Given the description of an element on the screen output the (x, y) to click on. 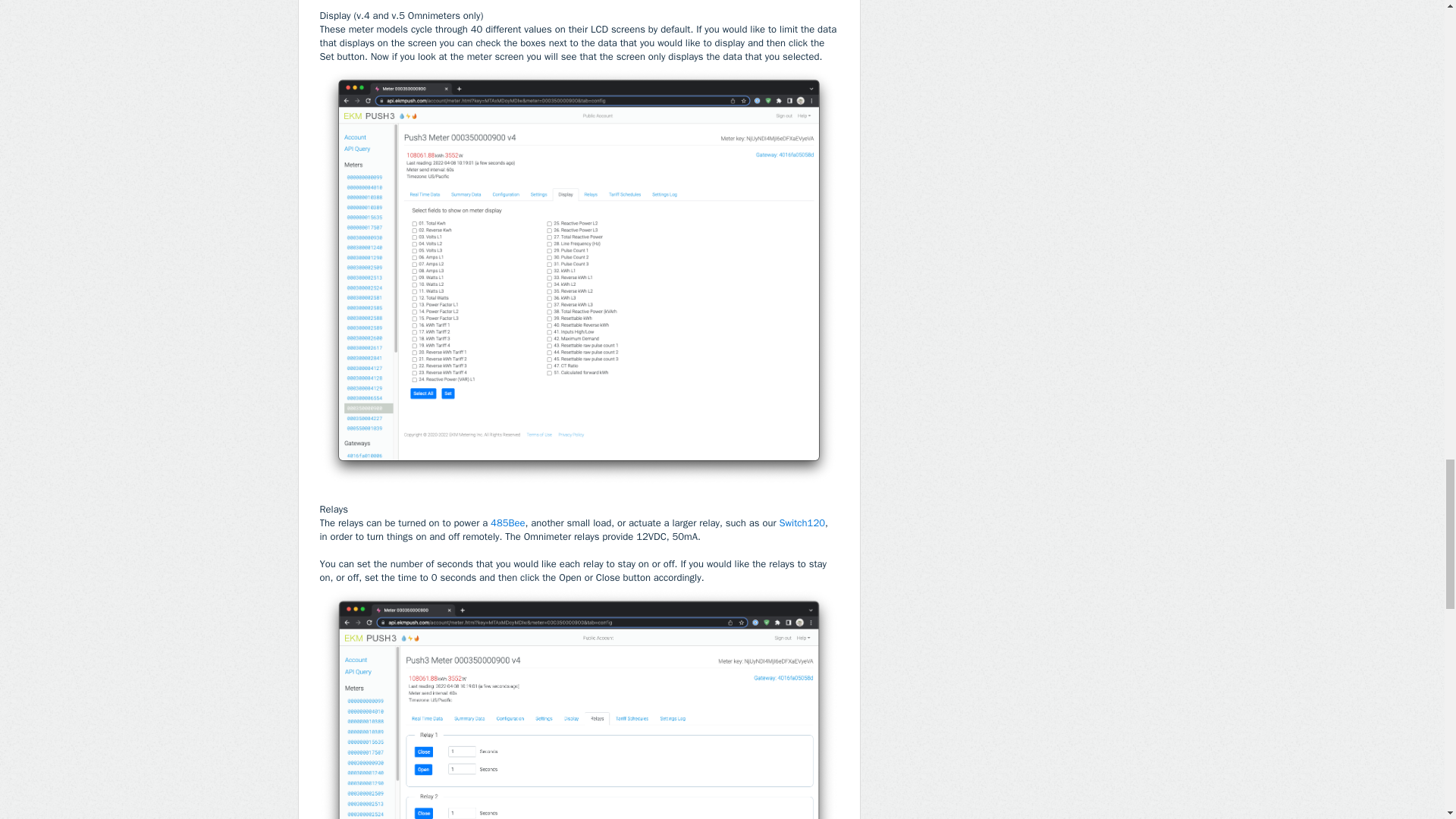
485Bee (507, 522)
Switch120 (801, 522)
